Given the description of an element on the screen output the (x, y) to click on. 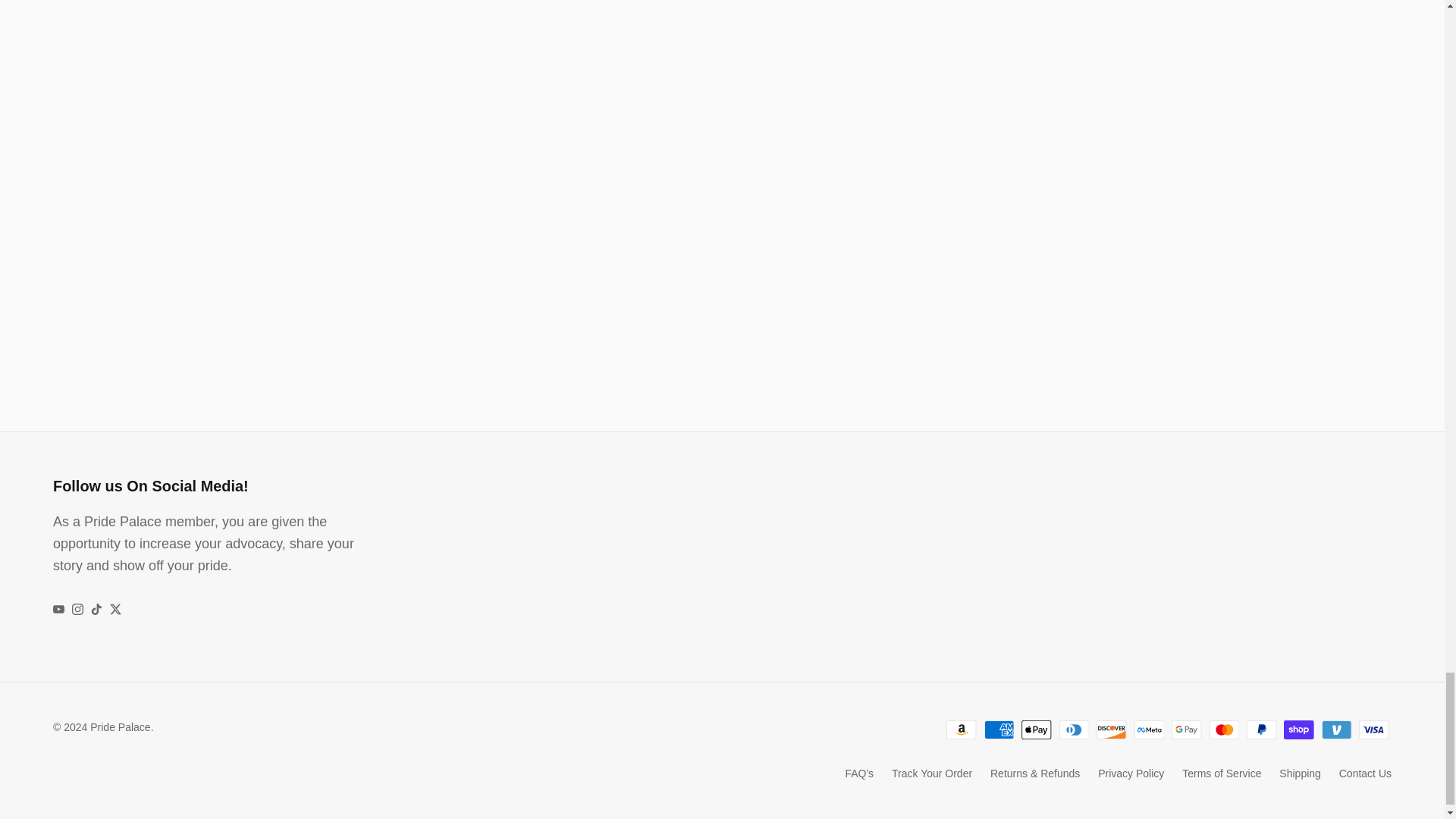
Apple Pay (1036, 729)
Pride Palace on TikTok (95, 609)
Mastercard (1224, 729)
PayPal (1261, 729)
Google Pay (1186, 729)
Pride Palace on Twitter (115, 609)
Meta Pay (1149, 729)
Amazon (961, 729)
American Express (999, 729)
Discover (1111, 729)
